Given the description of an element on the screen output the (x, y) to click on. 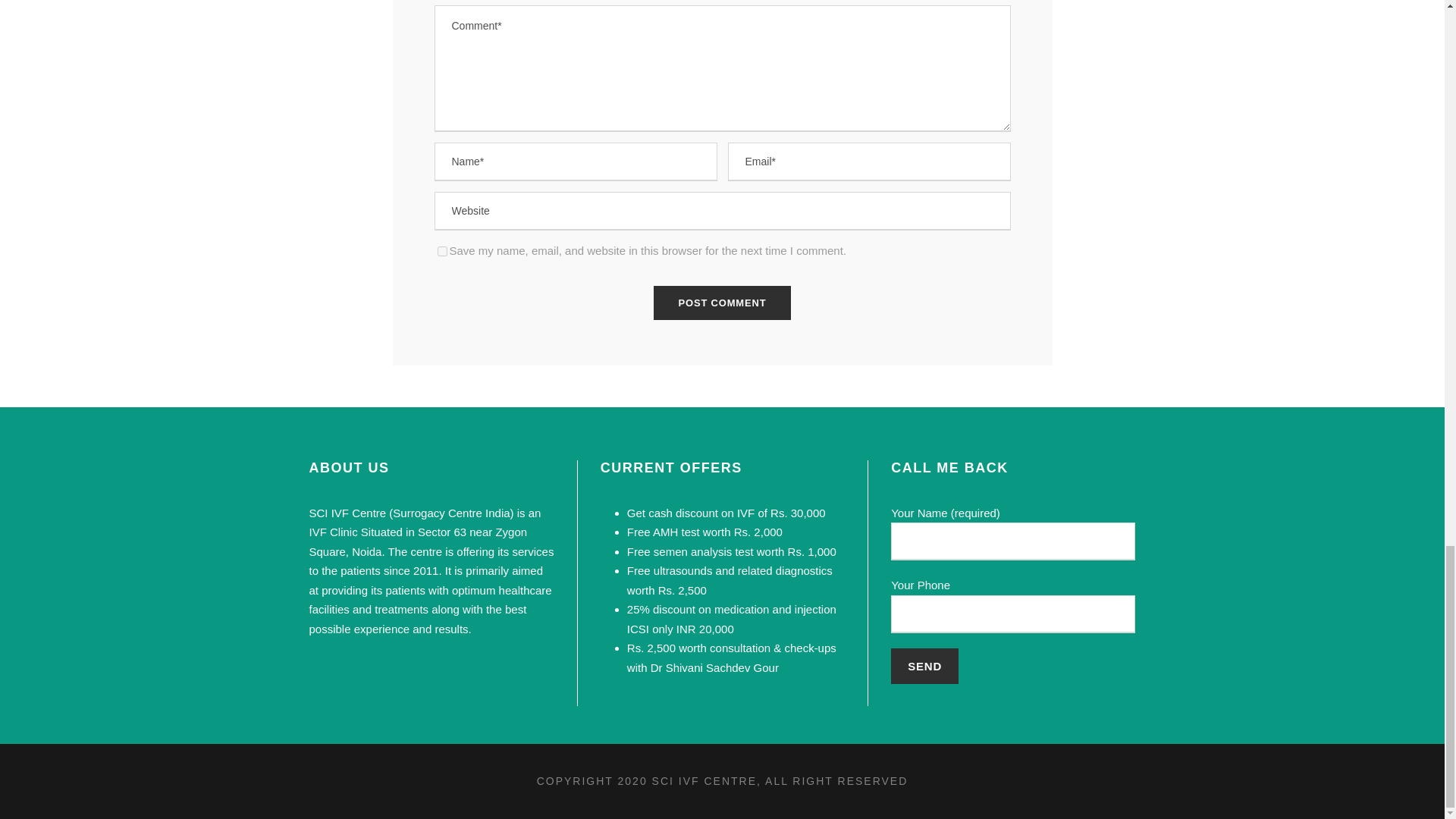
Post Comment (722, 302)
yes (441, 251)
Send (924, 665)
